Given the description of an element on the screen output the (x, y) to click on. 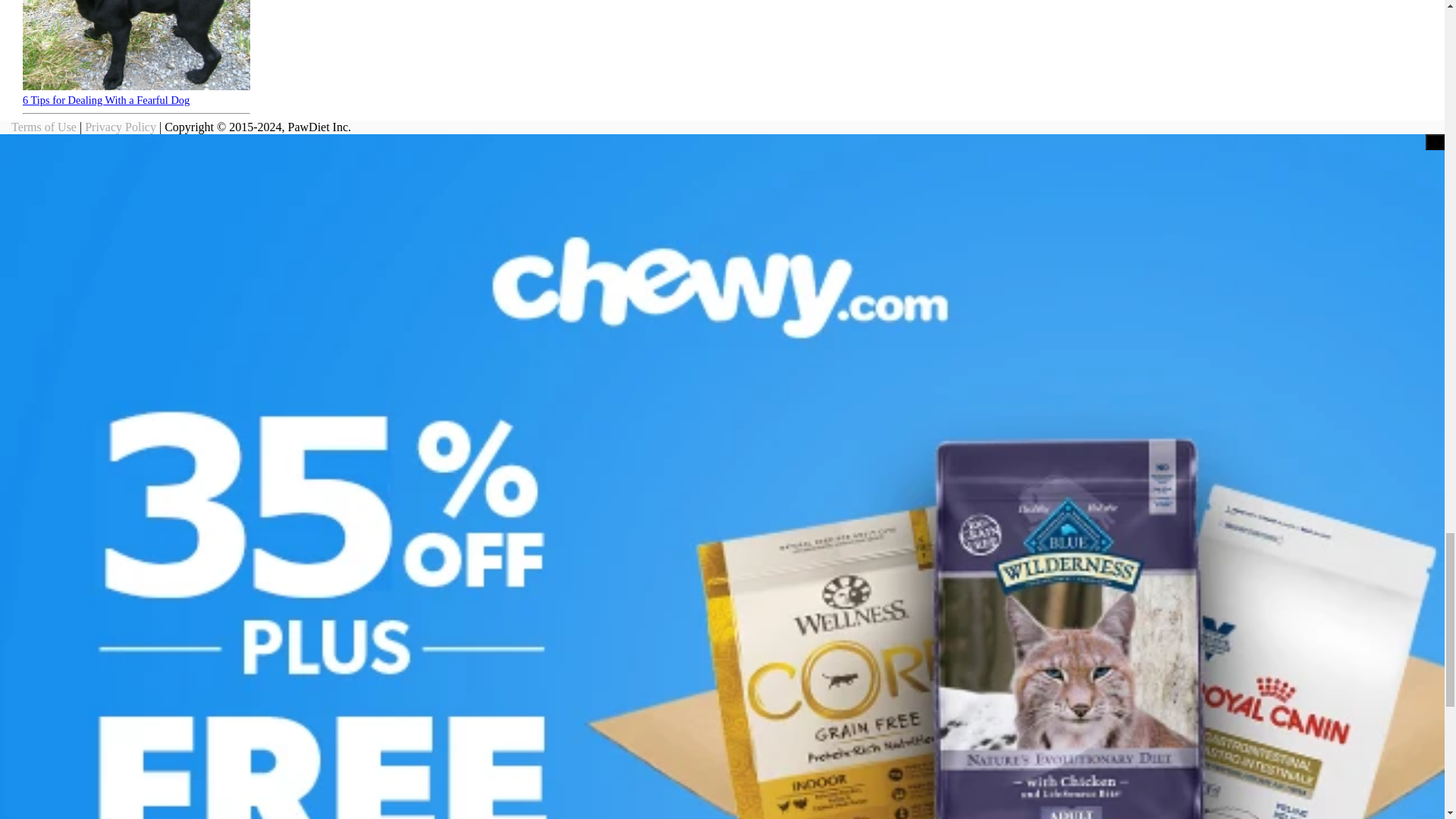
Terms of Use (44, 126)
6 Tips for Dealing With a Fearful Dog (106, 100)
Privacy Policy (119, 126)
